Given the description of an element on the screen output the (x, y) to click on. 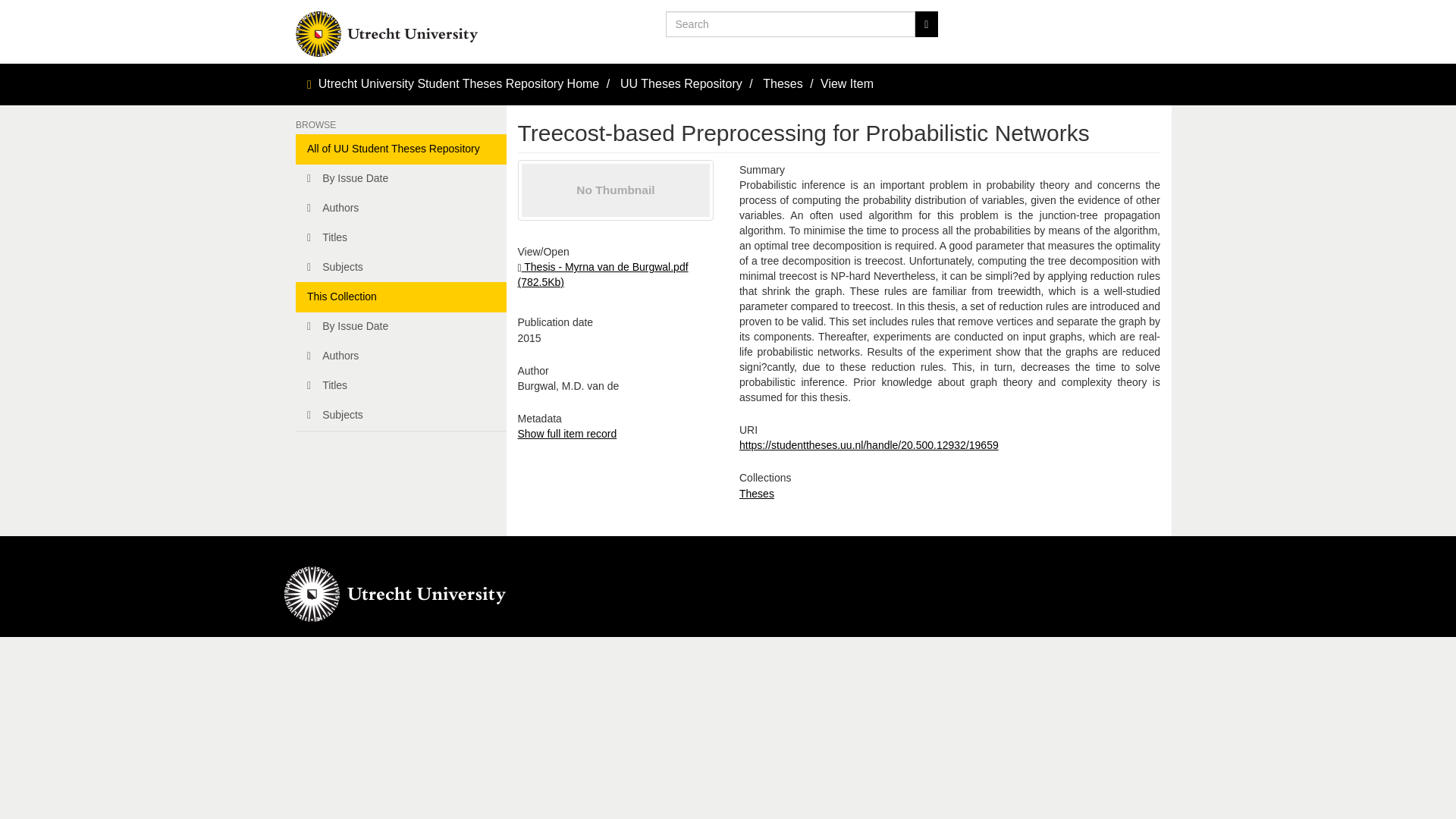
By Issue Date (400, 178)
This Collection (400, 296)
Theses (756, 493)
Subjects (400, 267)
Utrecht University Student Theses Repository Home (458, 83)
UU Theses Repository (681, 83)
Authors (400, 208)
Show full item record (565, 433)
By Issue Date (400, 327)
All of UU Student Theses Repository (400, 149)
Authors (400, 356)
Titles (400, 386)
Subjects (400, 415)
Go (925, 23)
Titles (400, 237)
